Given the description of an element on the screen output the (x, y) to click on. 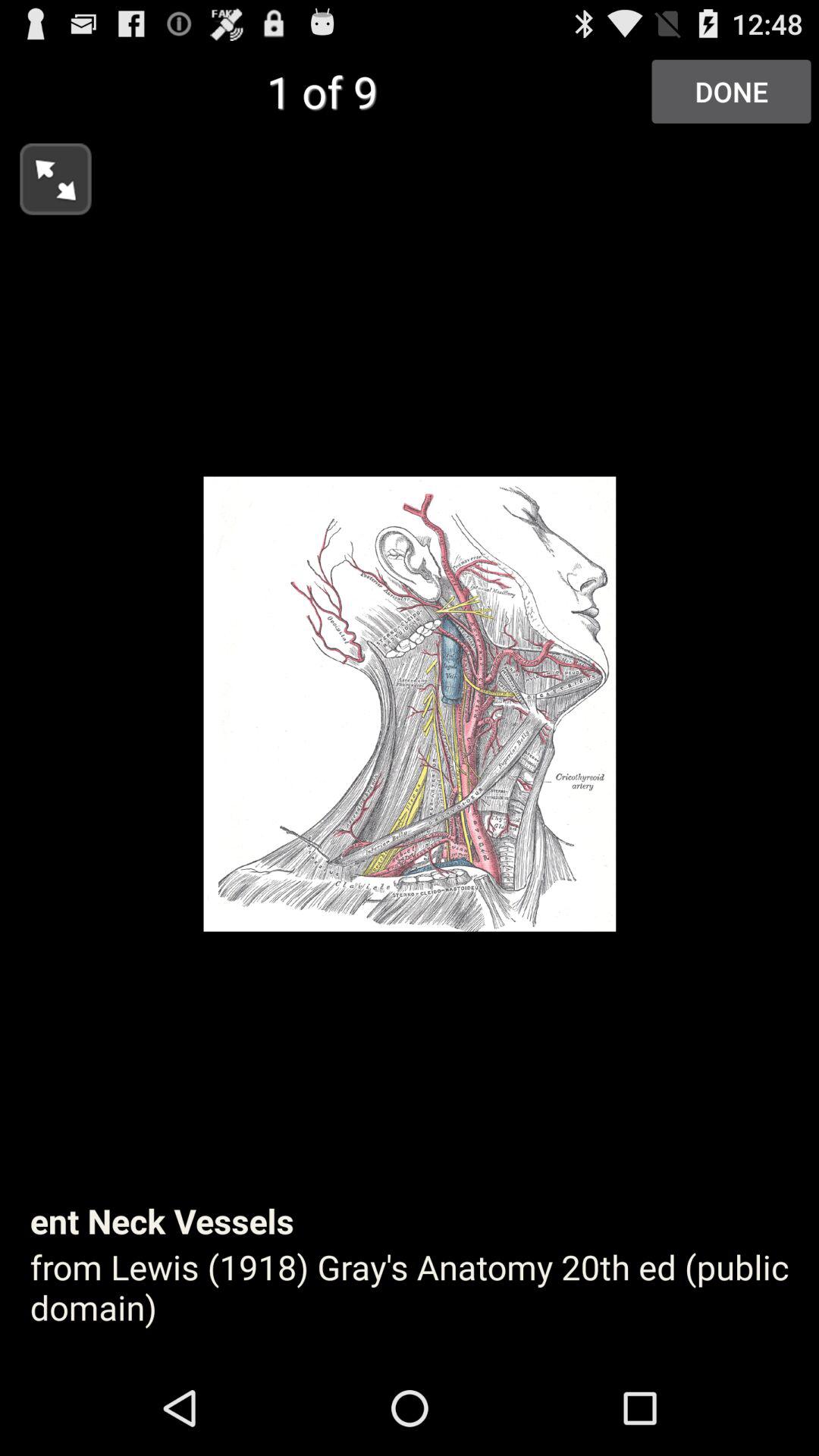
select item to the right of the 1 of 9 icon (731, 91)
